Given the description of an element on the screen output the (x, y) to click on. 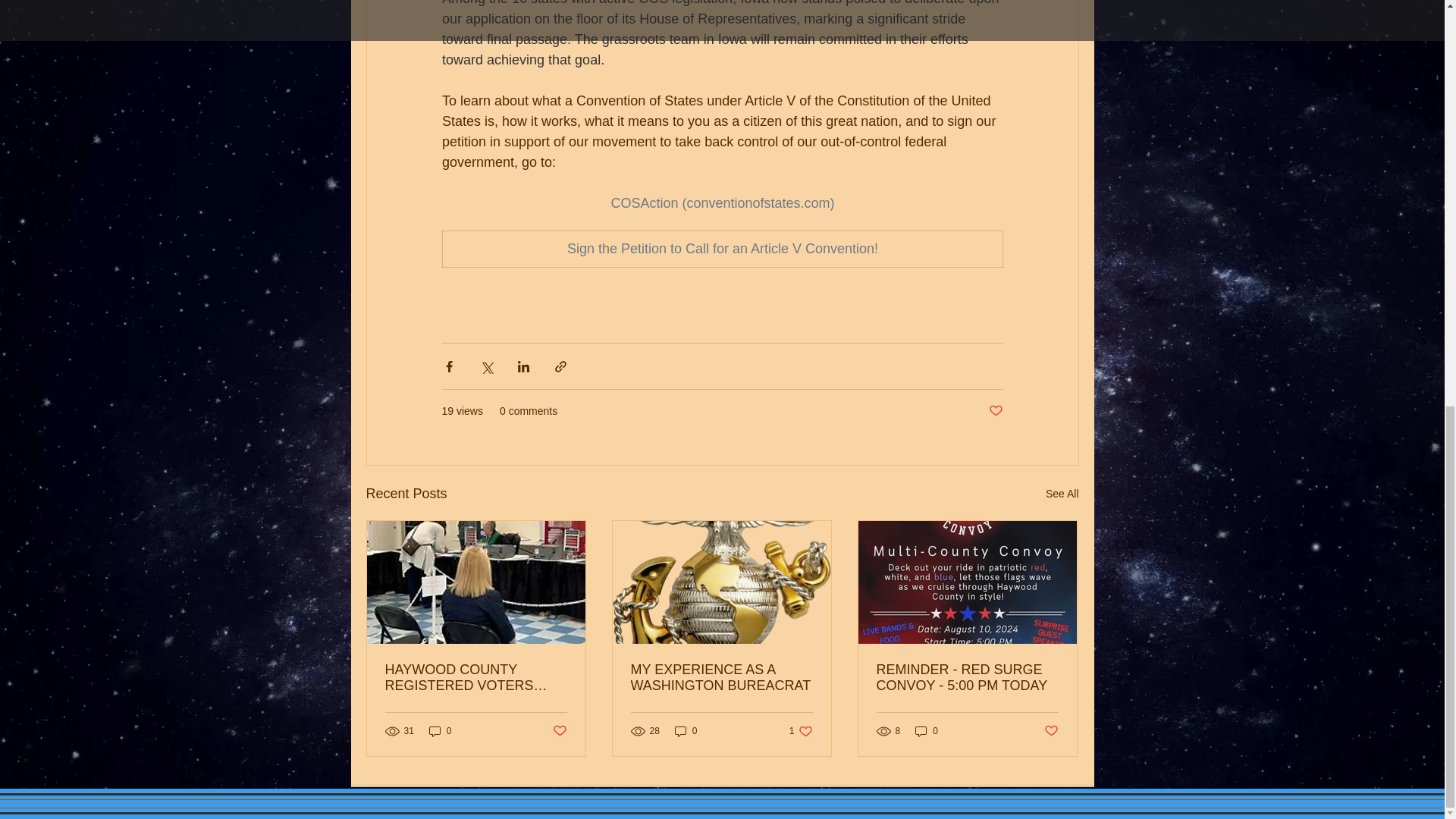
Sign the Petition to Call for an Article V Convention! (721, 248)
MY EXPERIENCE AS A WASHINGTON BUREACRAT (721, 677)
Post not marked as liked (1050, 731)
Post not marked as liked (995, 411)
0 (440, 730)
HAYWOOD COUNTY REGISTERED VOTERS ALERT (476, 677)
See All (1061, 494)
REMINDER - RED SURGE CONVOY - 5:00 PM TODAY (967, 677)
0 (685, 730)
0 (926, 730)
